Given the description of an element on the screen output the (x, y) to click on. 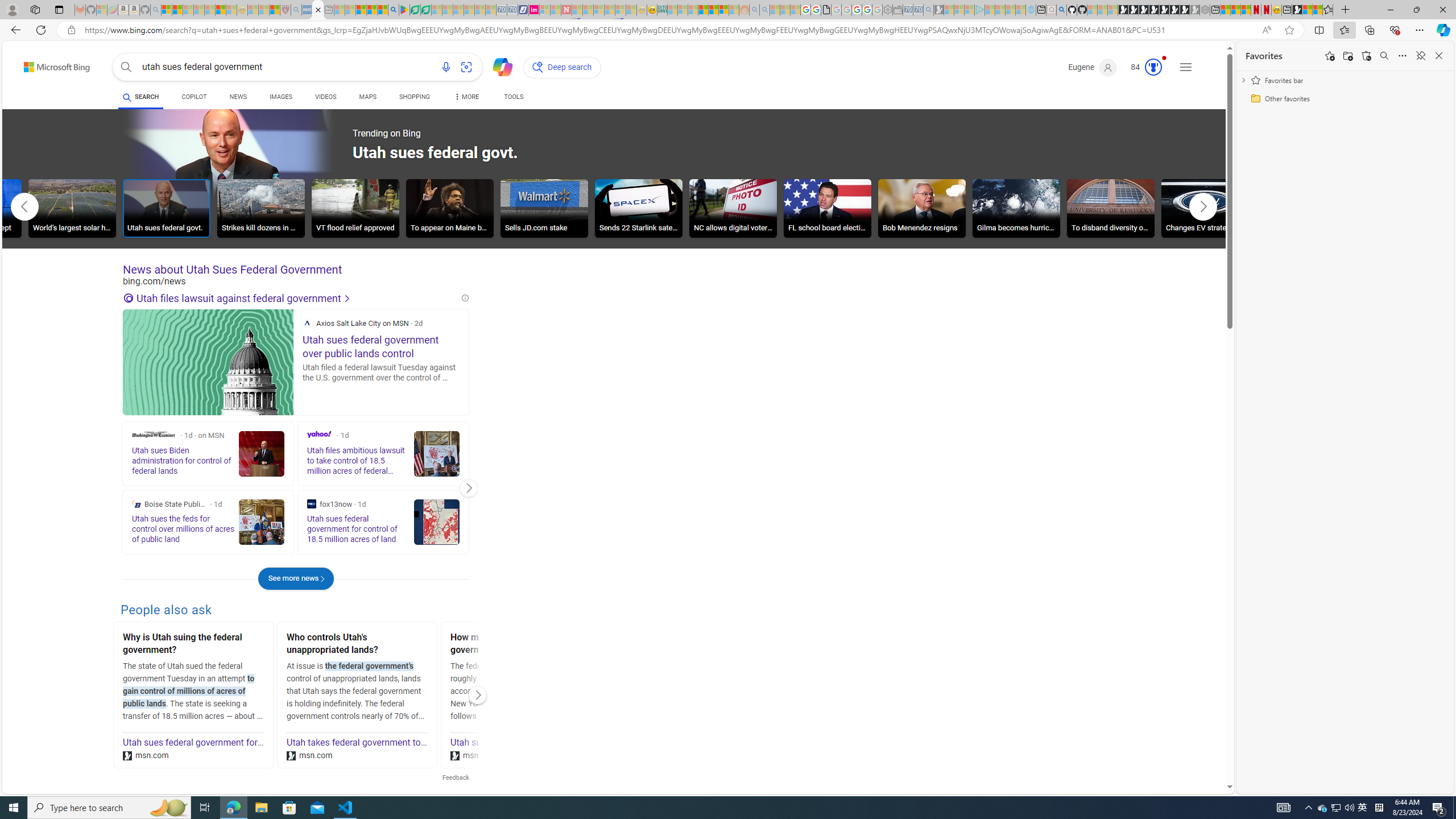
VT flood relief approved (354, 207)
COPILOT (193, 96)
Click to scroll left (25, 206)
Dropdown Menu (465, 96)
Search using voice (445, 66)
To appear on Maine ballot (449, 207)
